Given the description of an element on the screen output the (x, y) to click on. 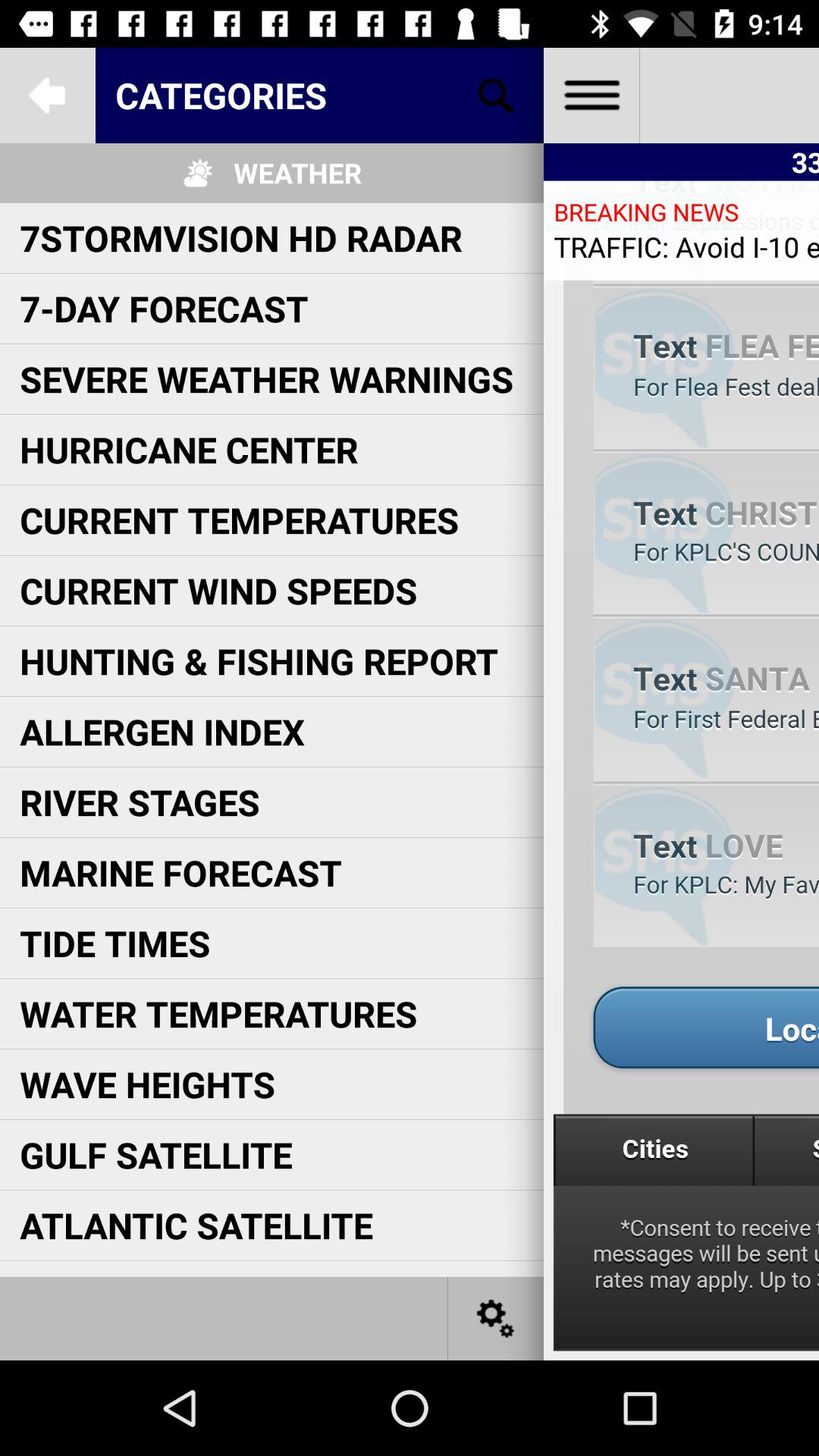
click on the search button (495, 95)
click on options button at top right corner (591, 95)
